Given the description of an element on the screen output the (x, y) to click on. 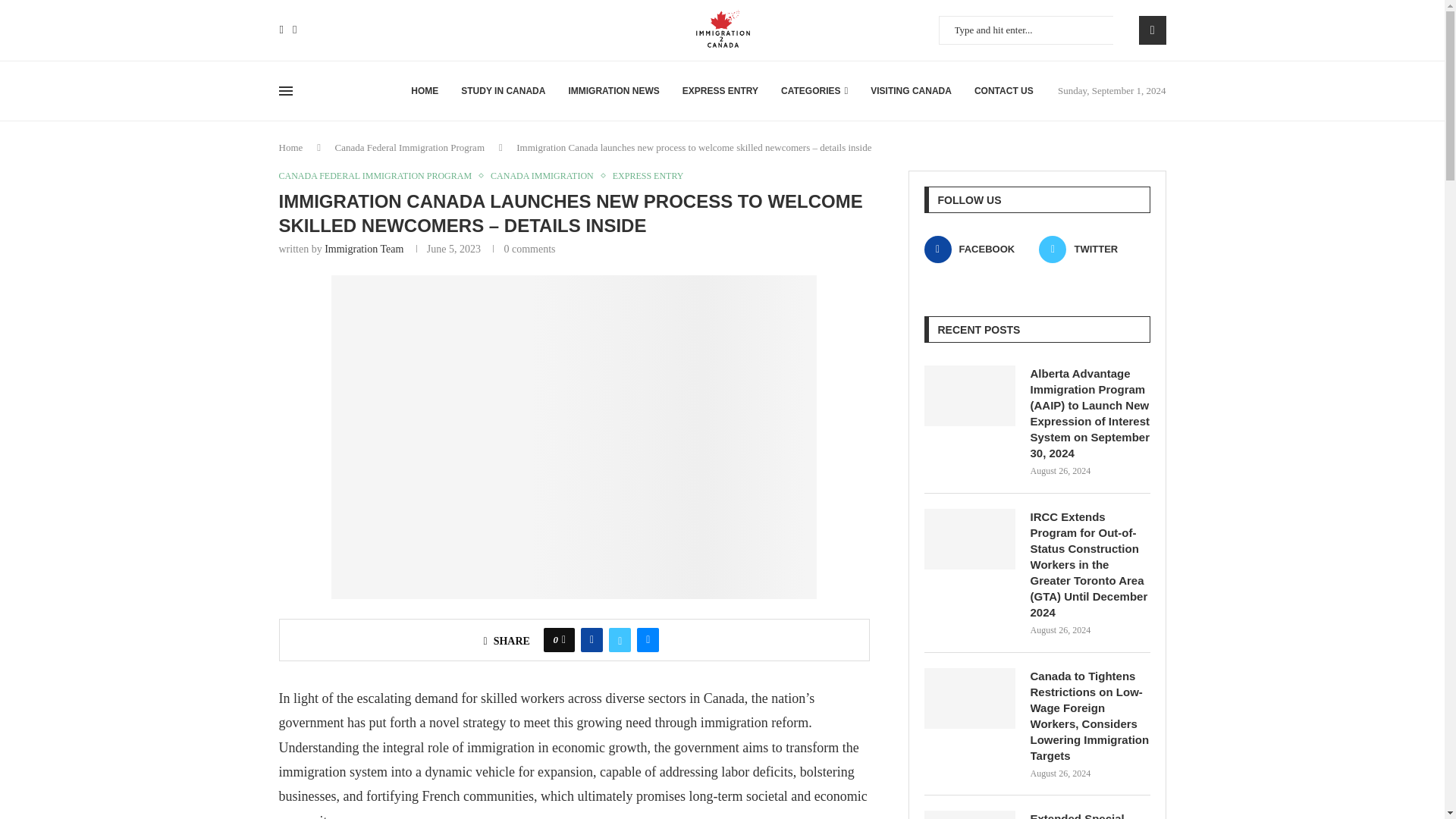
CONTACT US (1003, 90)
EXPRESS ENTRY (720, 90)
IMMIGRATION NEWS (613, 90)
SEARCH (1152, 30)
VISITING CANADA (911, 90)
CATEGORIES (813, 90)
STUDY IN CANADA (502, 90)
